Given the description of an element on the screen output the (x, y) to click on. 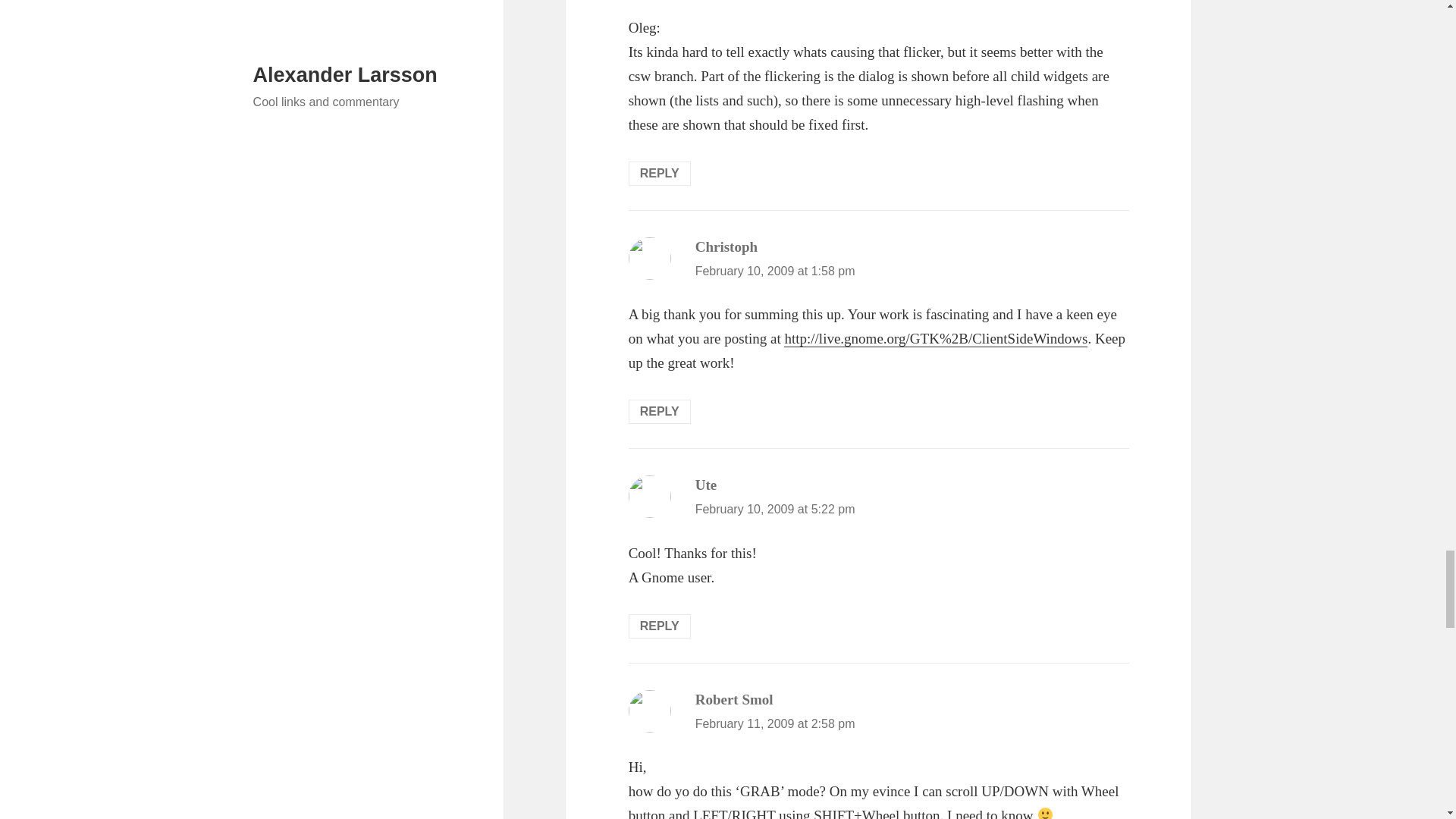
REPLY (659, 411)
REPLY (659, 173)
February 10, 2009 at 1:58 pm (775, 270)
February 10, 2009 at 5:22 pm (775, 508)
REPLY (659, 626)
February 11, 2009 at 2:58 pm (775, 723)
